Given the description of an element on the screen output the (x, y) to click on. 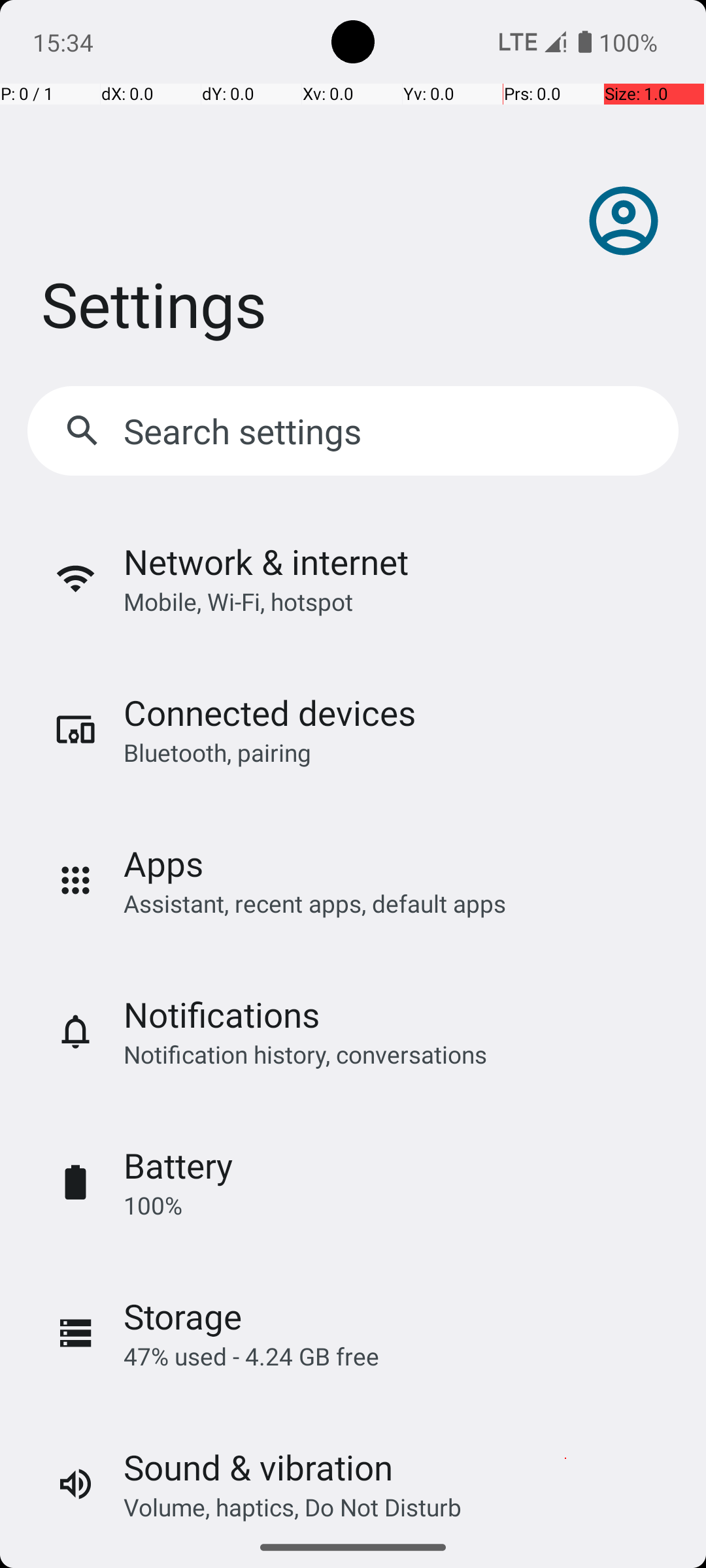
47% used - 4.24 GB free Element type: android.widget.TextView (251, 1355)
